Given the description of an element on the screen output the (x, y) to click on. 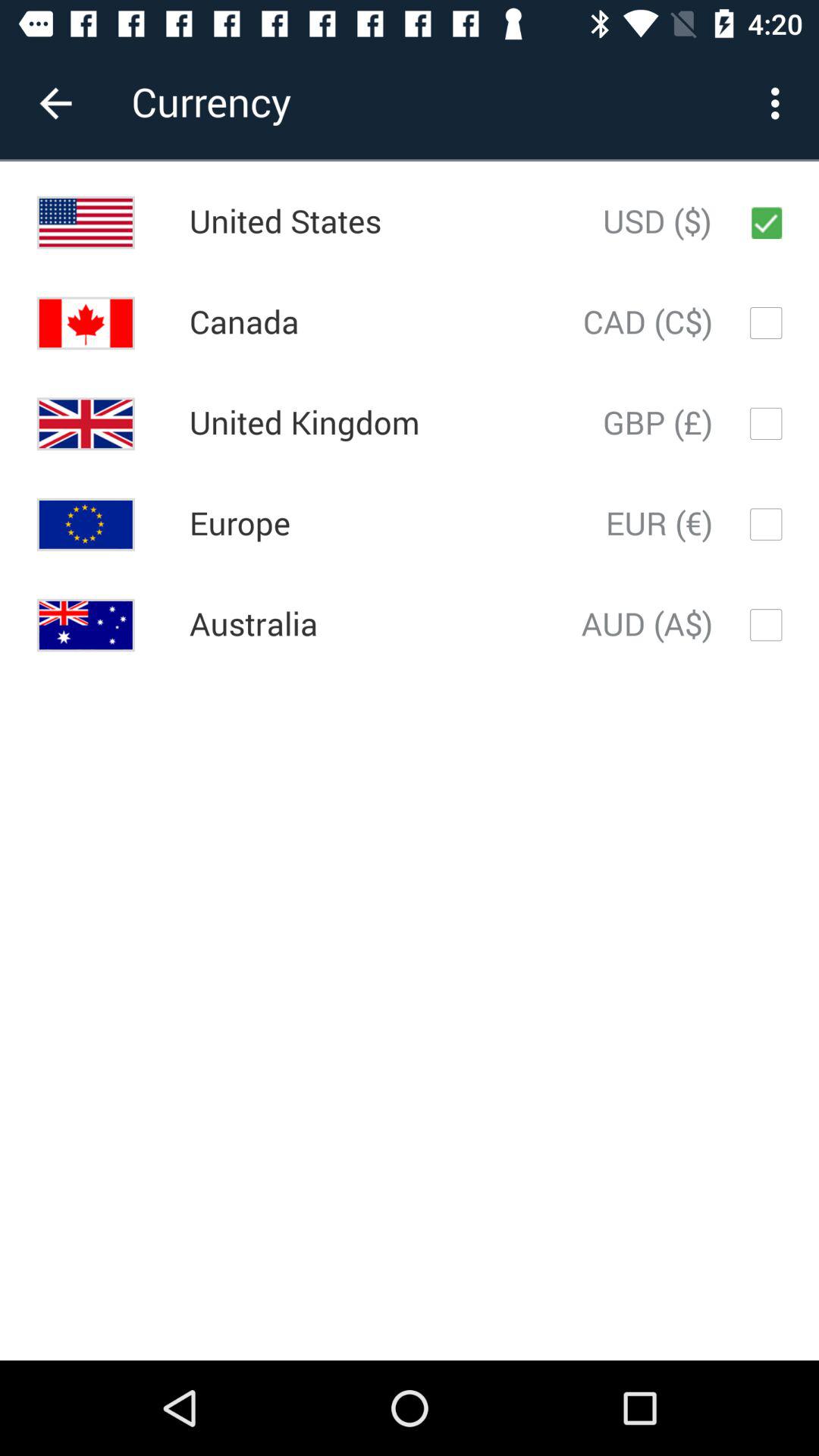
launch the item to the right of europe icon (659, 524)
